Given the description of an element on the screen output the (x, y) to click on. 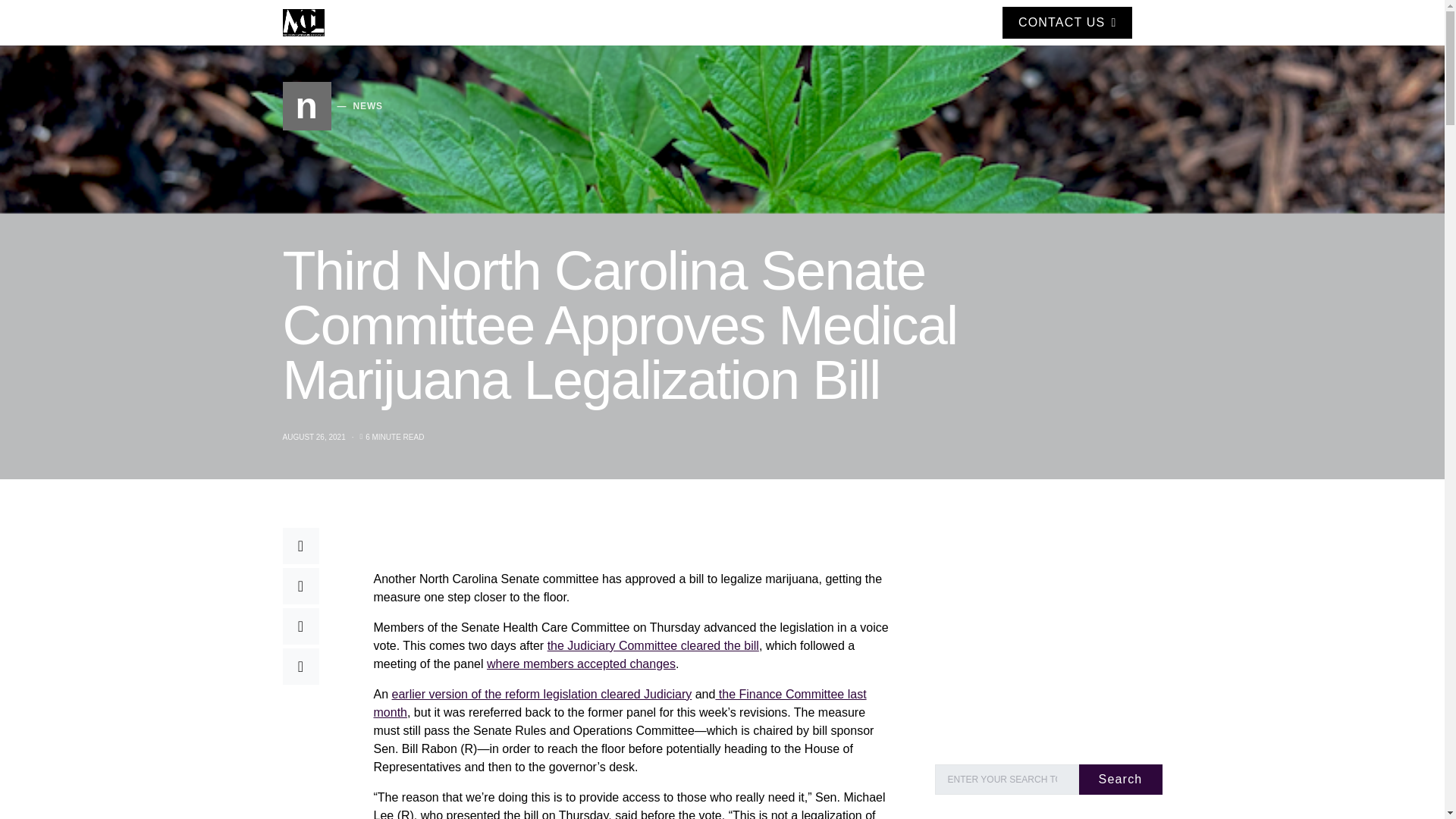
LEGISLATION (726, 22)
 the Finance Committee last month (619, 702)
CONTACT US (1067, 21)
the Judiciary Committee cleared the bill (332, 105)
ENTERTAINMENT (652, 644)
LIFESTYLE (568, 22)
NEWS (470, 22)
earlier version of the reform legislation cleared Judiciary (652, 22)
RECIPES (542, 693)
